Given the description of an element on the screen output the (x, y) to click on. 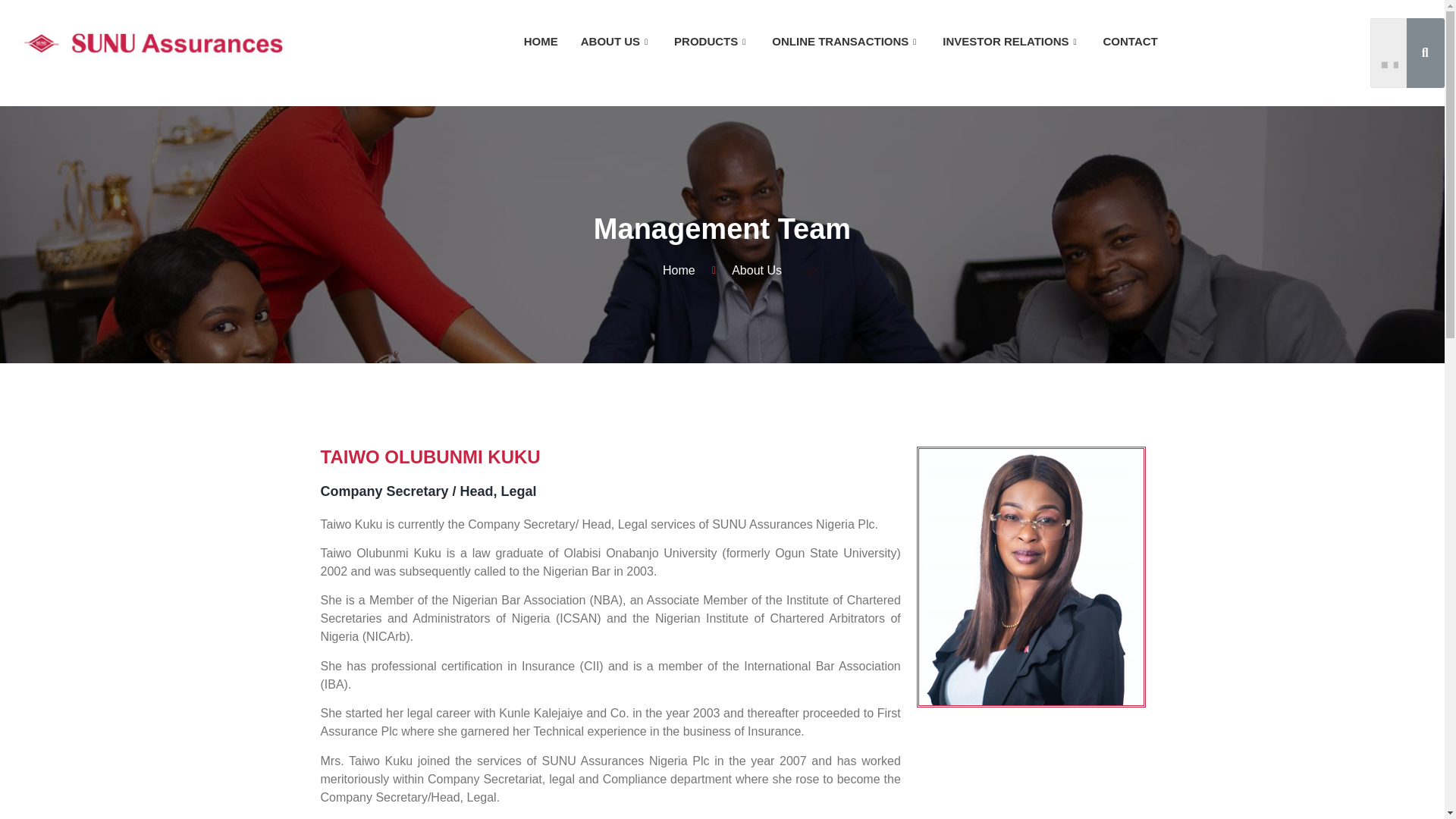
PRODUCTS (711, 41)
Management Team (722, 229)
ONLINE TRANSACTIONS (845, 41)
CONTACT (1130, 41)
TAIWO OLUBUNMI KUKU (722, 270)
ABOUT US (609, 457)
INVESTOR RELATIONS (615, 41)
HOME (1010, 41)
